Given the description of an element on the screen output the (x, y) to click on. 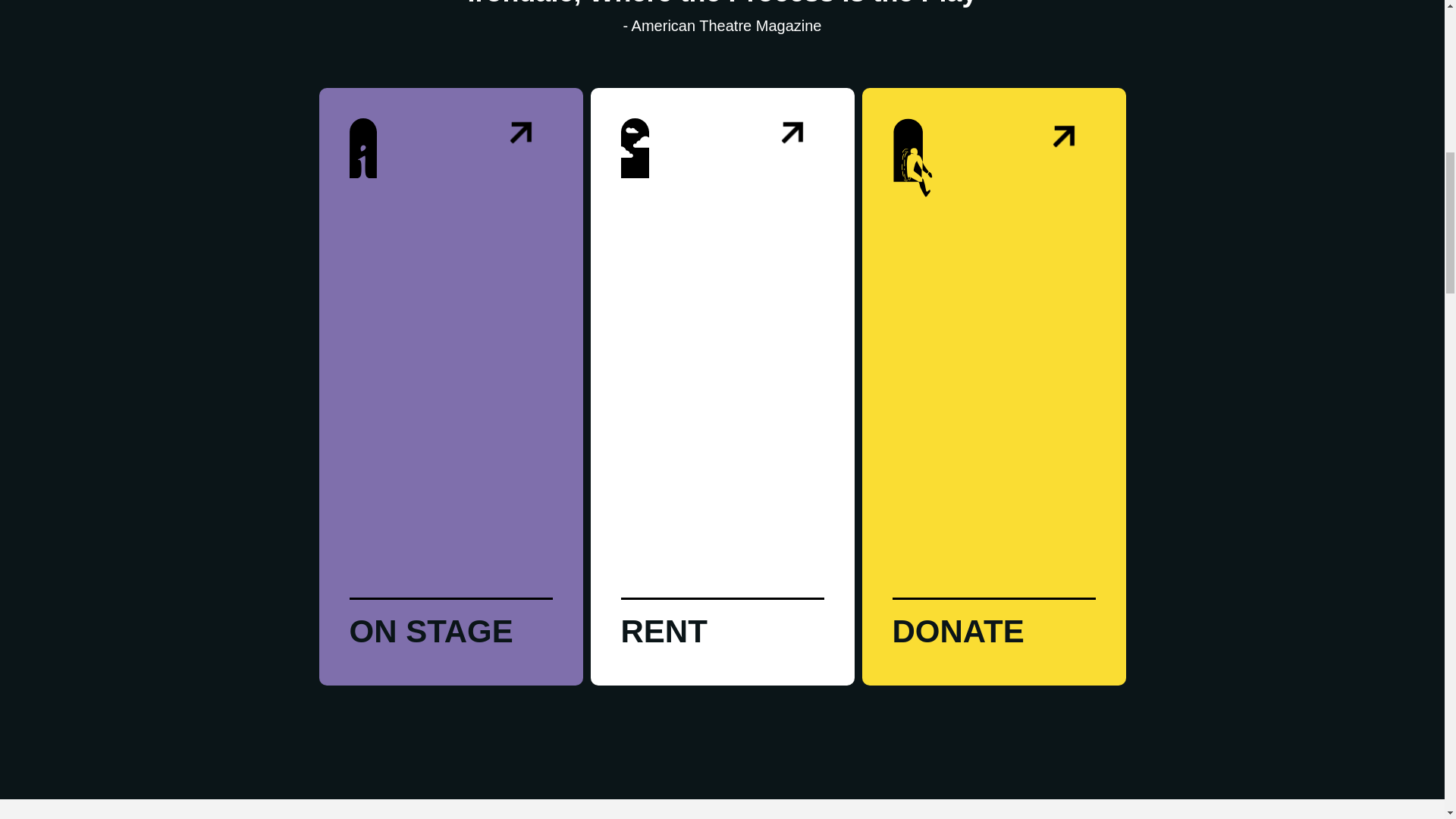
RENT THE SPACE AT IRONDALE (729, 632)
IRONDALE PRODUCTIONS (458, 639)
SUPPORT US (1001, 639)
